Given the description of an element on the screen output the (x, y) to click on. 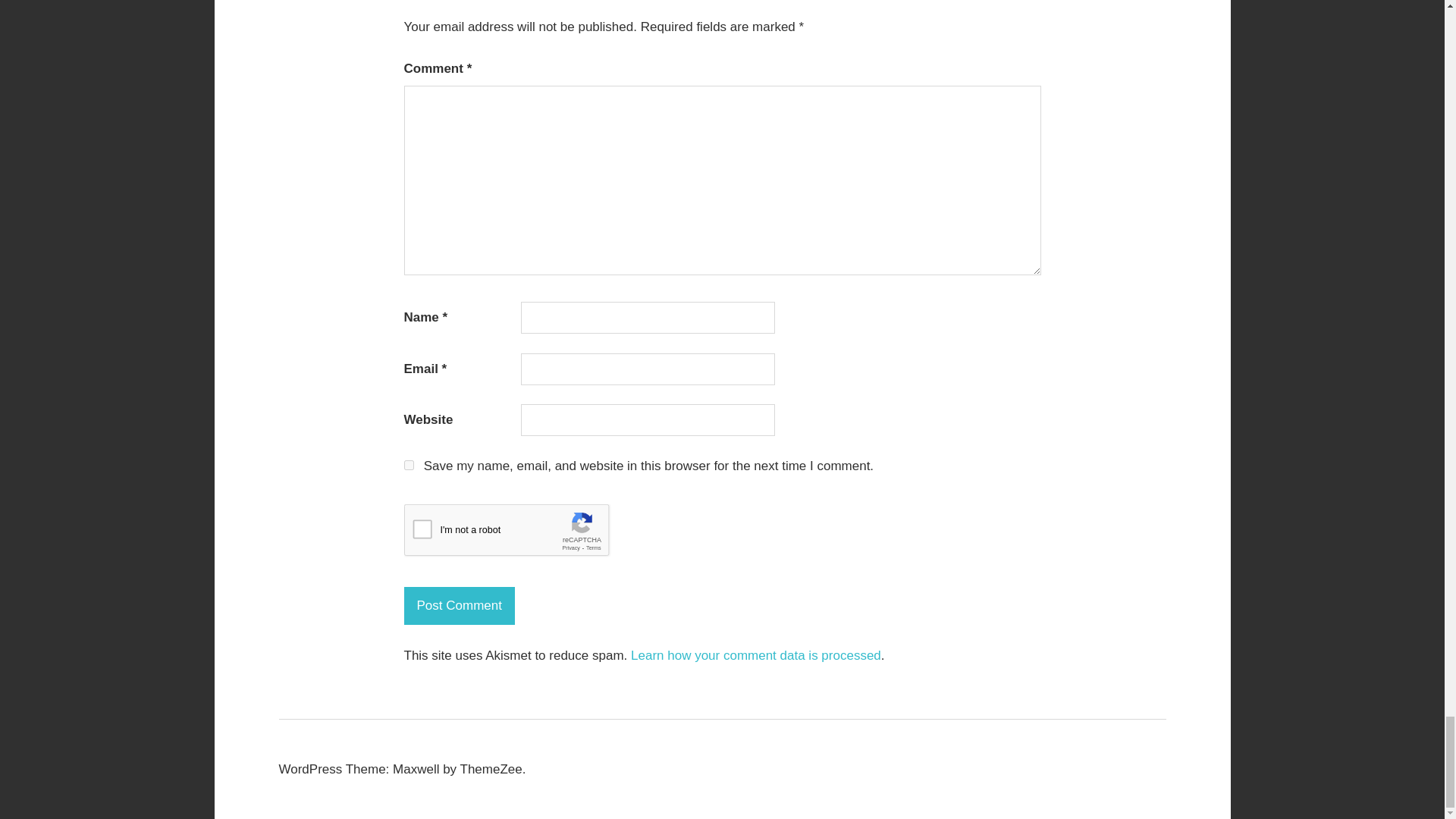
reCAPTCHA (518, 533)
Learn how your comment data is processed (755, 655)
Post Comment (458, 605)
Post Comment (458, 605)
yes (408, 465)
